Given the description of an element on the screen output the (x, y) to click on. 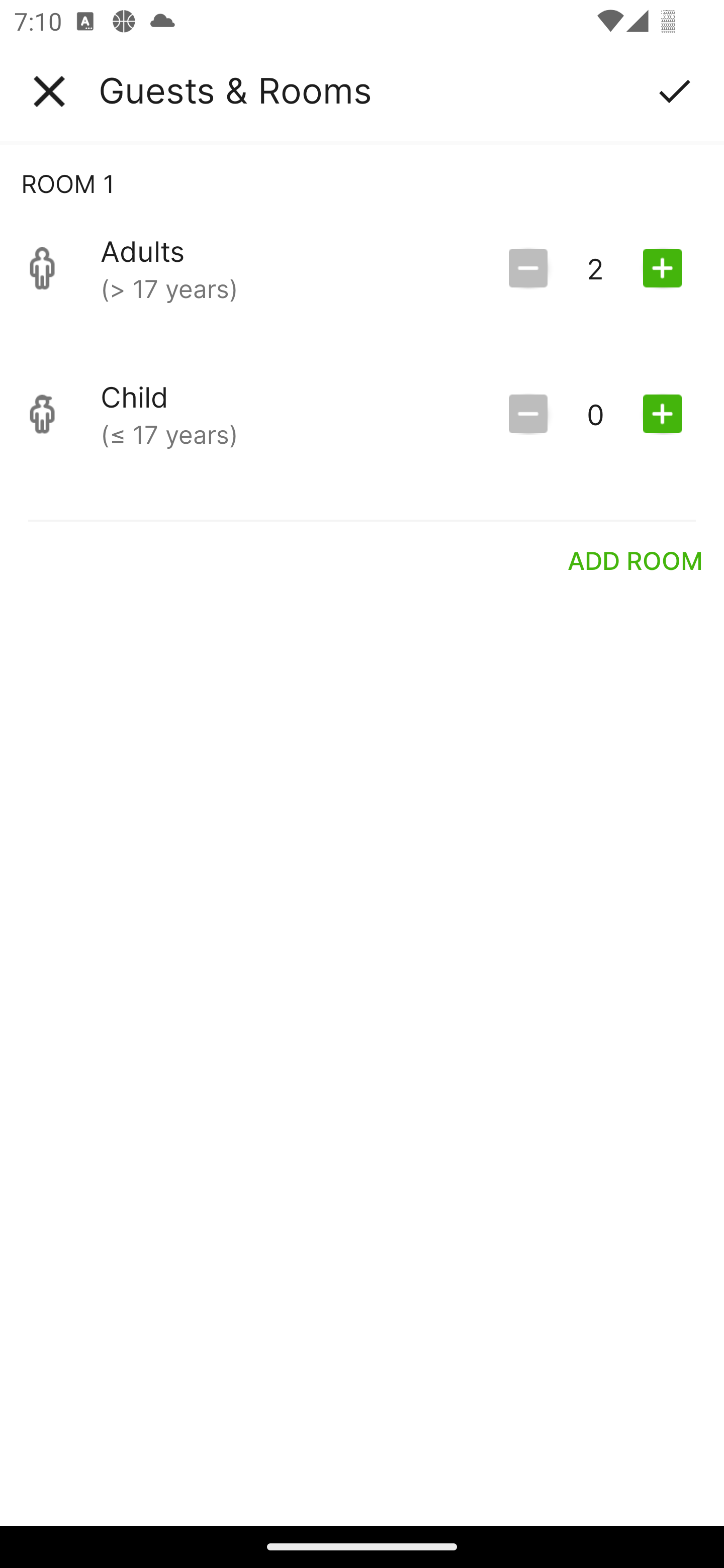
ADD ROOM (635, 560)
